Given the description of an element on the screen output the (x, y) to click on. 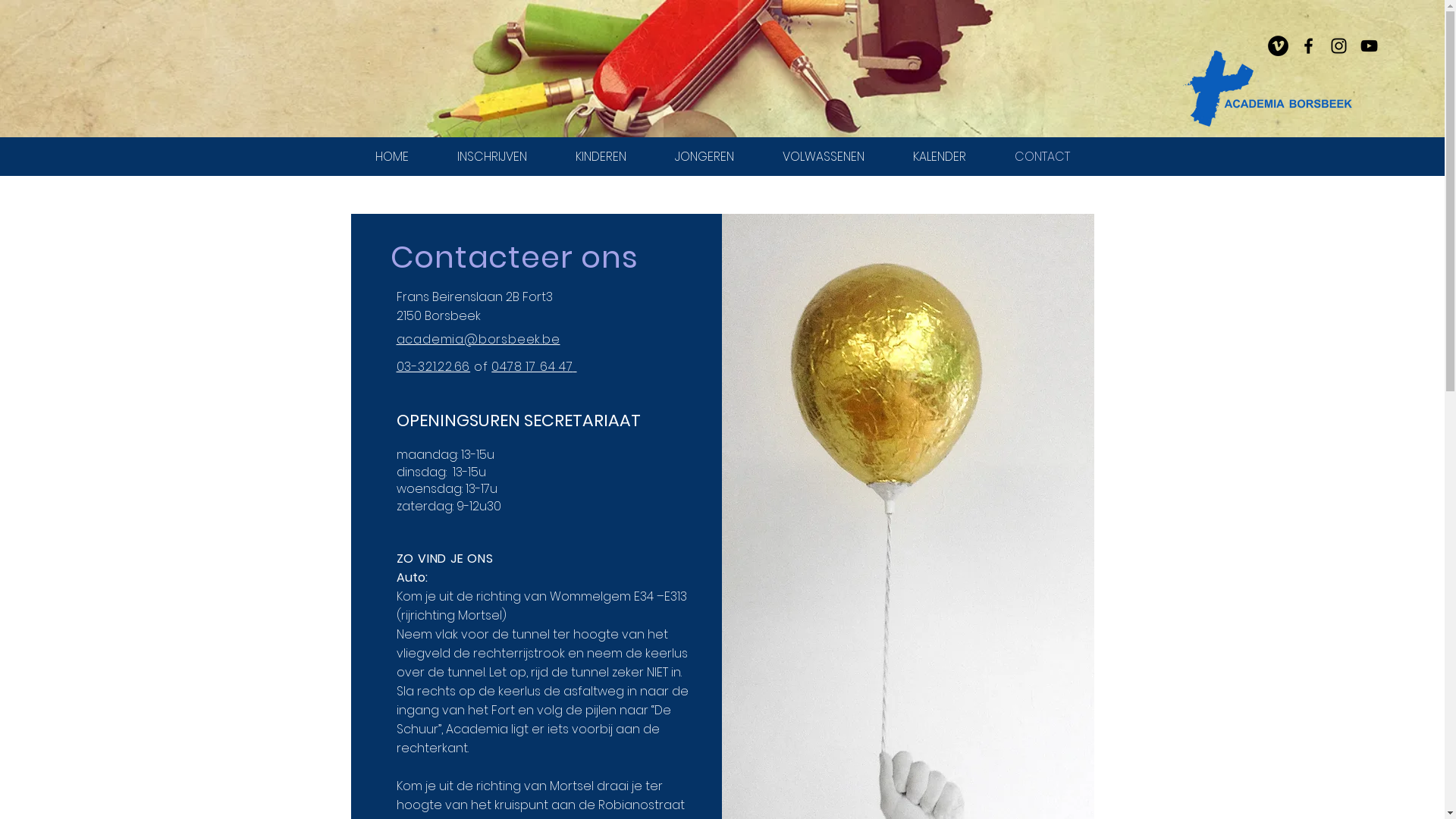
VOLWASSENEN Element type: text (823, 156)
KALENDER Element type: text (939, 156)
HOME Element type: text (391, 156)
KINDEREN Element type: text (599, 156)
INSCHRIJVEN Element type: text (491, 156)
CONTACT Element type: text (1042, 156)
JONGEREN Element type: text (704, 156)
